Given the description of an element on the screen output the (x, y) to click on. 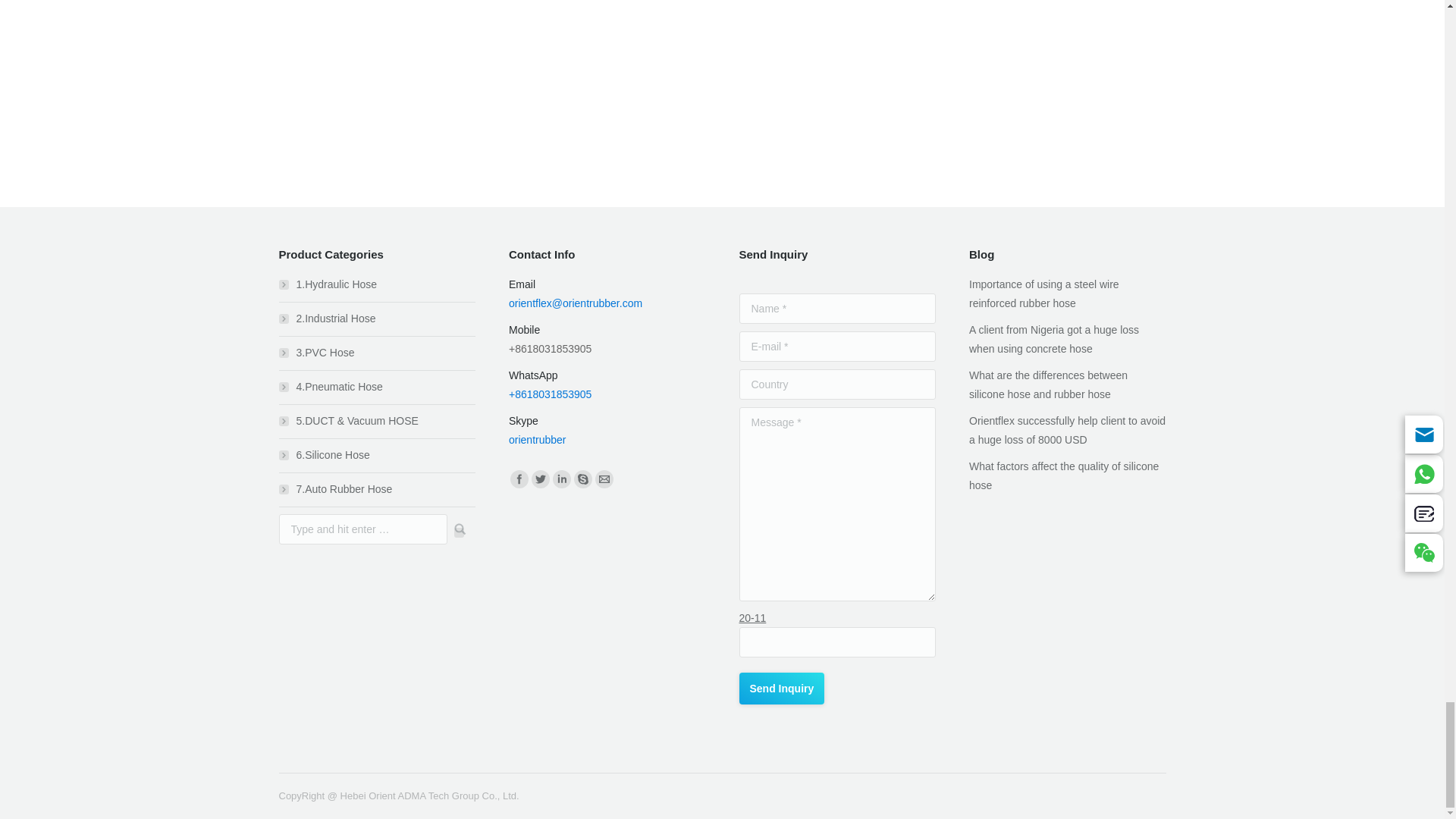
Send Inquiry (781, 688)
Go! (454, 529)
Go! (454, 529)
